Given the description of an element on the screen output the (x, y) to click on. 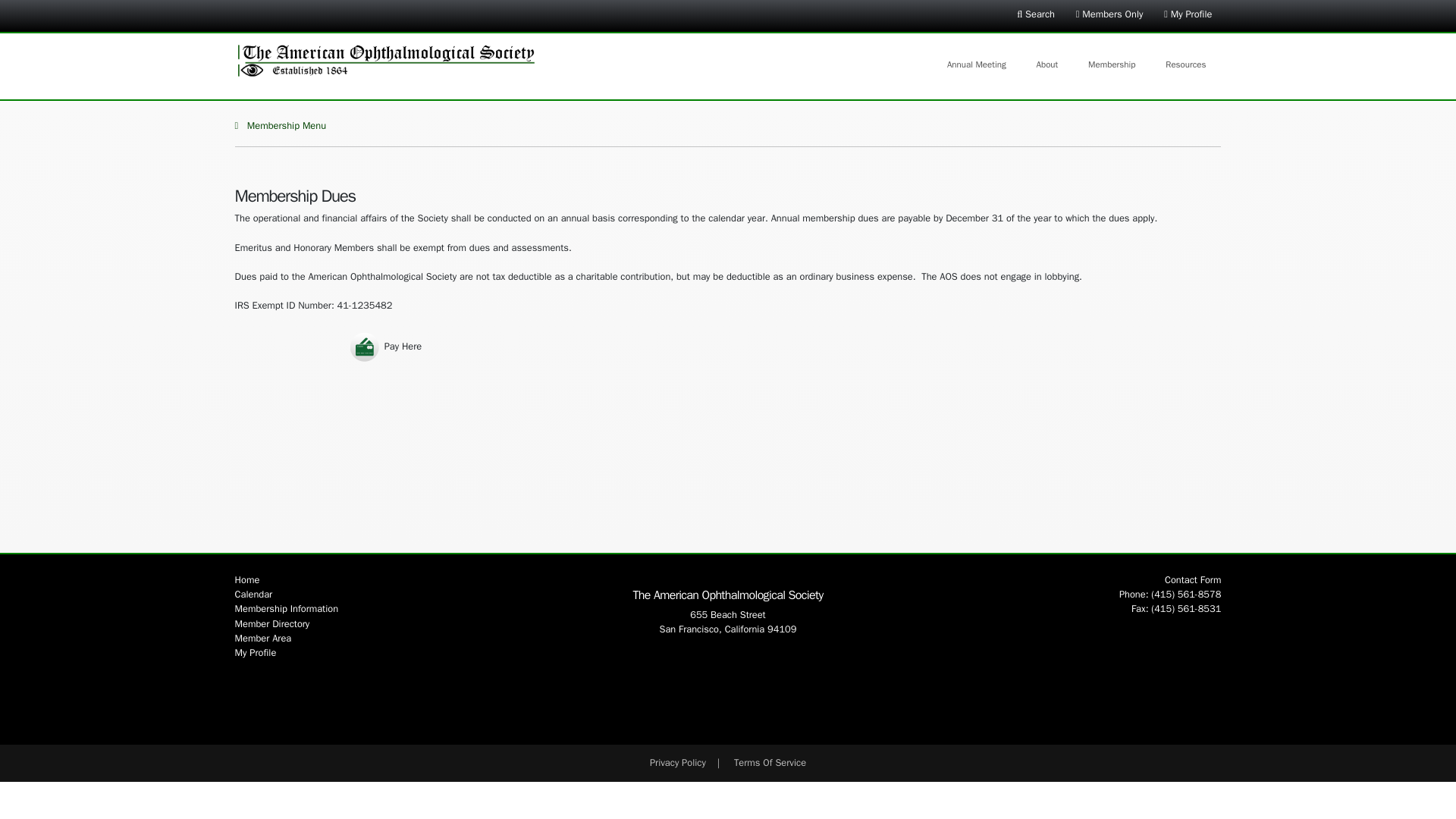
  Membership Menu (727, 125)
Pay Here (385, 346)
Annual Meeting (976, 64)
About (1046, 64)
Membership (1111, 64)
Search (1035, 19)
Resources (1185, 64)
My Profile (1187, 19)
Members Only (1109, 19)
Home (247, 580)
